Given the description of an element on the screen output the (x, y) to click on. 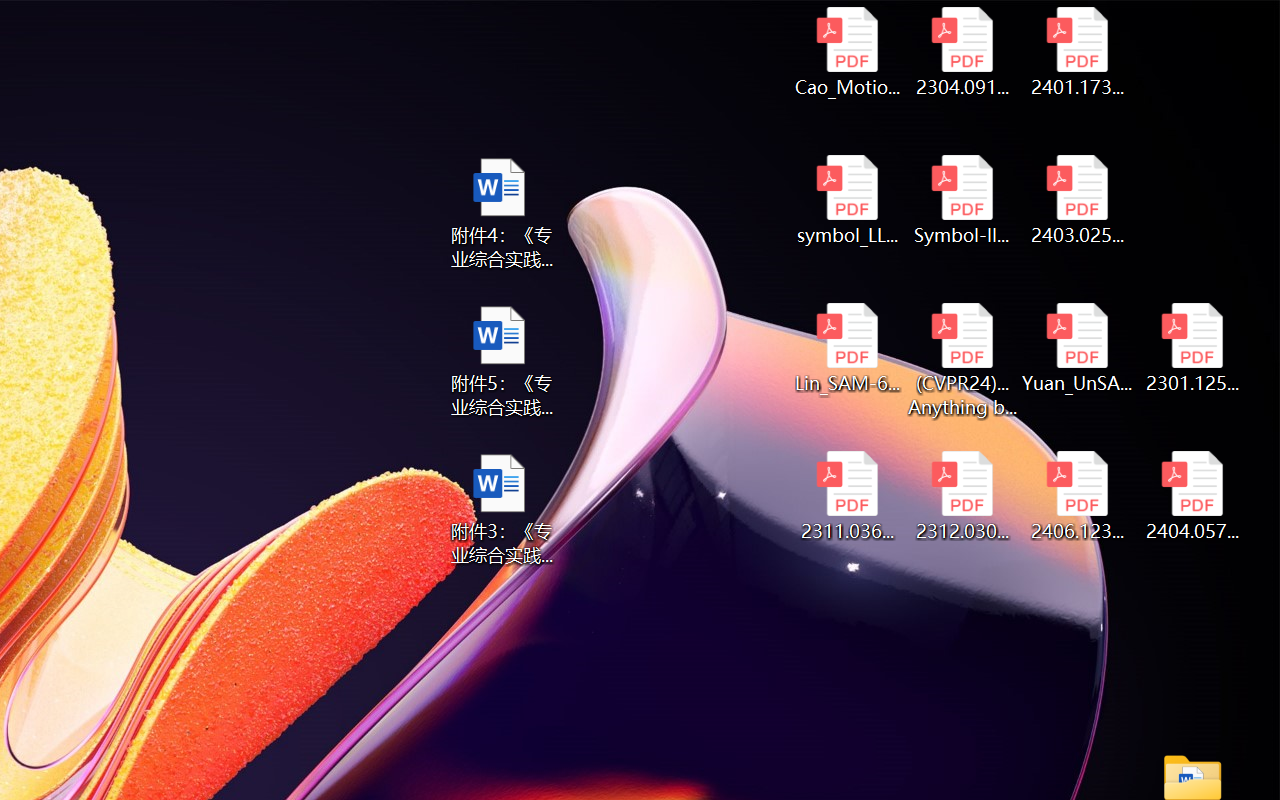
2312.03032v2.pdf (962, 496)
2406.12373v2.pdf (1077, 496)
2311.03658v2.pdf (846, 496)
Symbol-llm-v2.pdf (962, 200)
2403.02502v1.pdf (1077, 200)
(CVPR24)Matching Anything by Segmenting Anything.pdf (962, 360)
2401.17399v1.pdf (1077, 52)
2304.09121v3.pdf (962, 52)
2301.12597v3.pdf (1192, 348)
2404.05719v1.pdf (1192, 496)
